Given the description of an element on the screen output the (x, y) to click on. 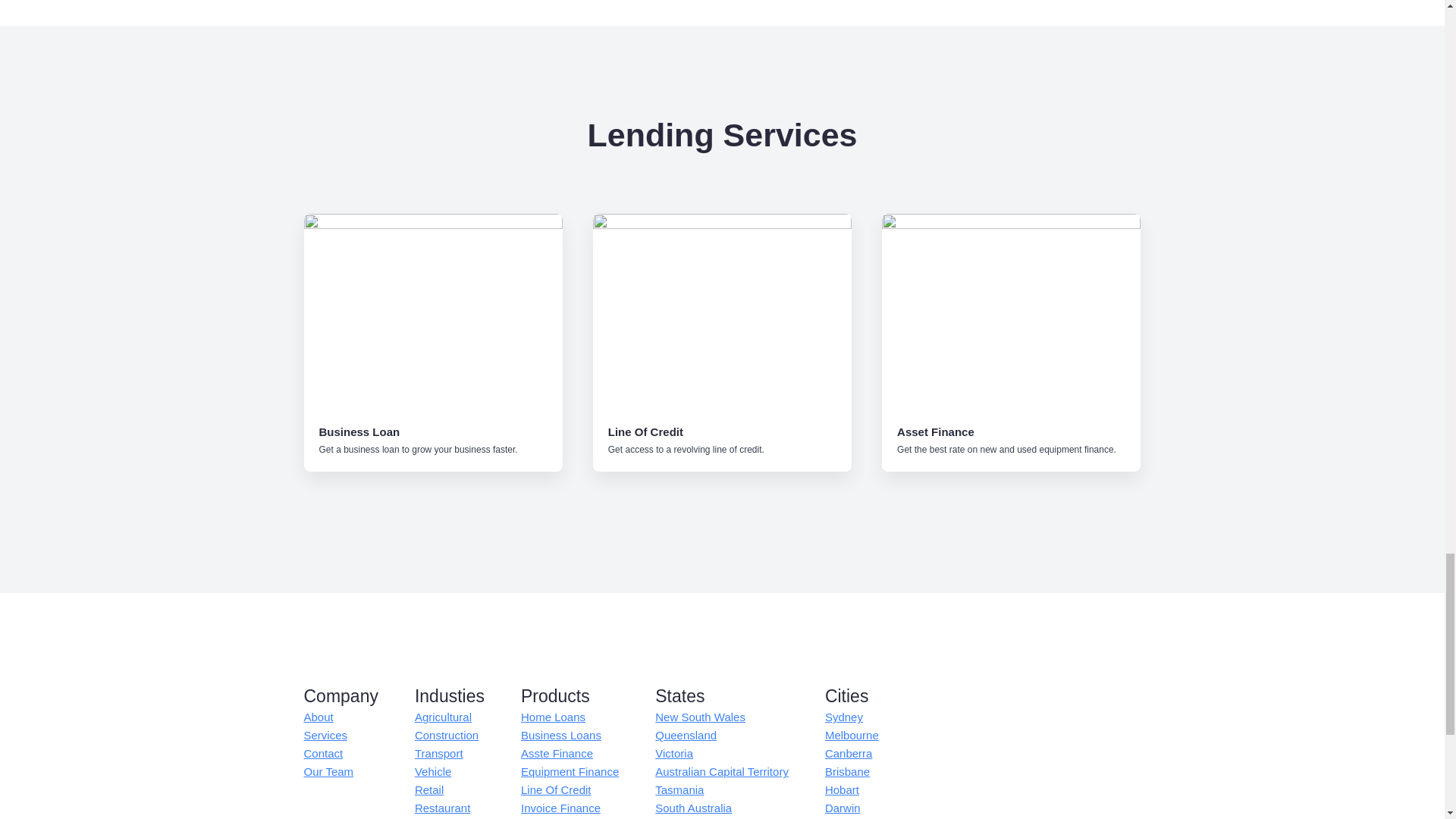
Agricultural (442, 717)
Contact (322, 753)
Services (324, 735)
Restaurant (442, 808)
Asste Finance (556, 753)
Cafe (426, 818)
Our Team (327, 771)
Business Loans (561, 735)
